Given the description of an element on the screen output the (x, y) to click on. 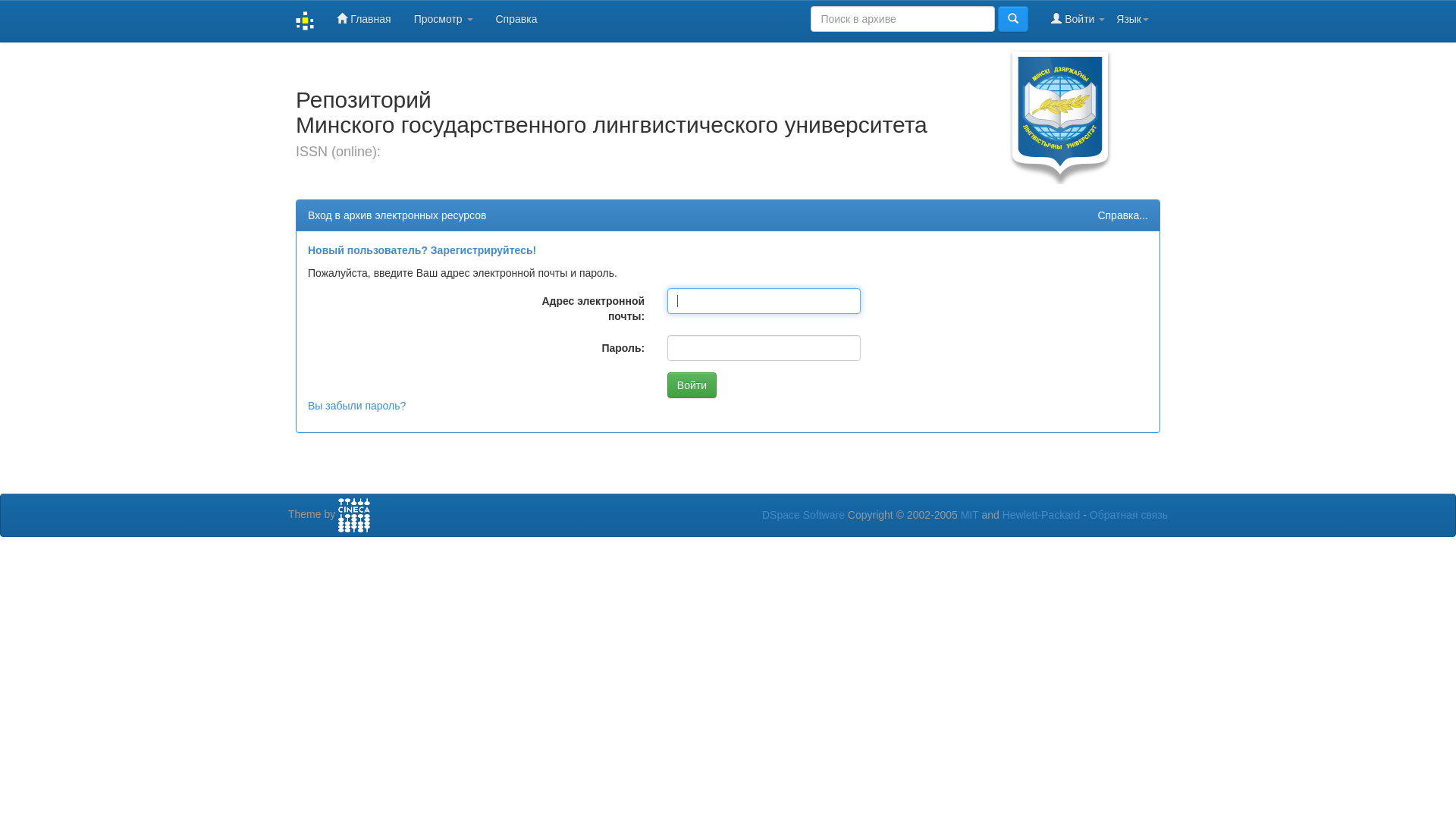
Hewlett-Packard Element type: text (1041, 514)
MIT Element type: text (969, 514)
DSpace Software Element type: text (803, 514)
